Given the description of an element on the screen output the (x, y) to click on. 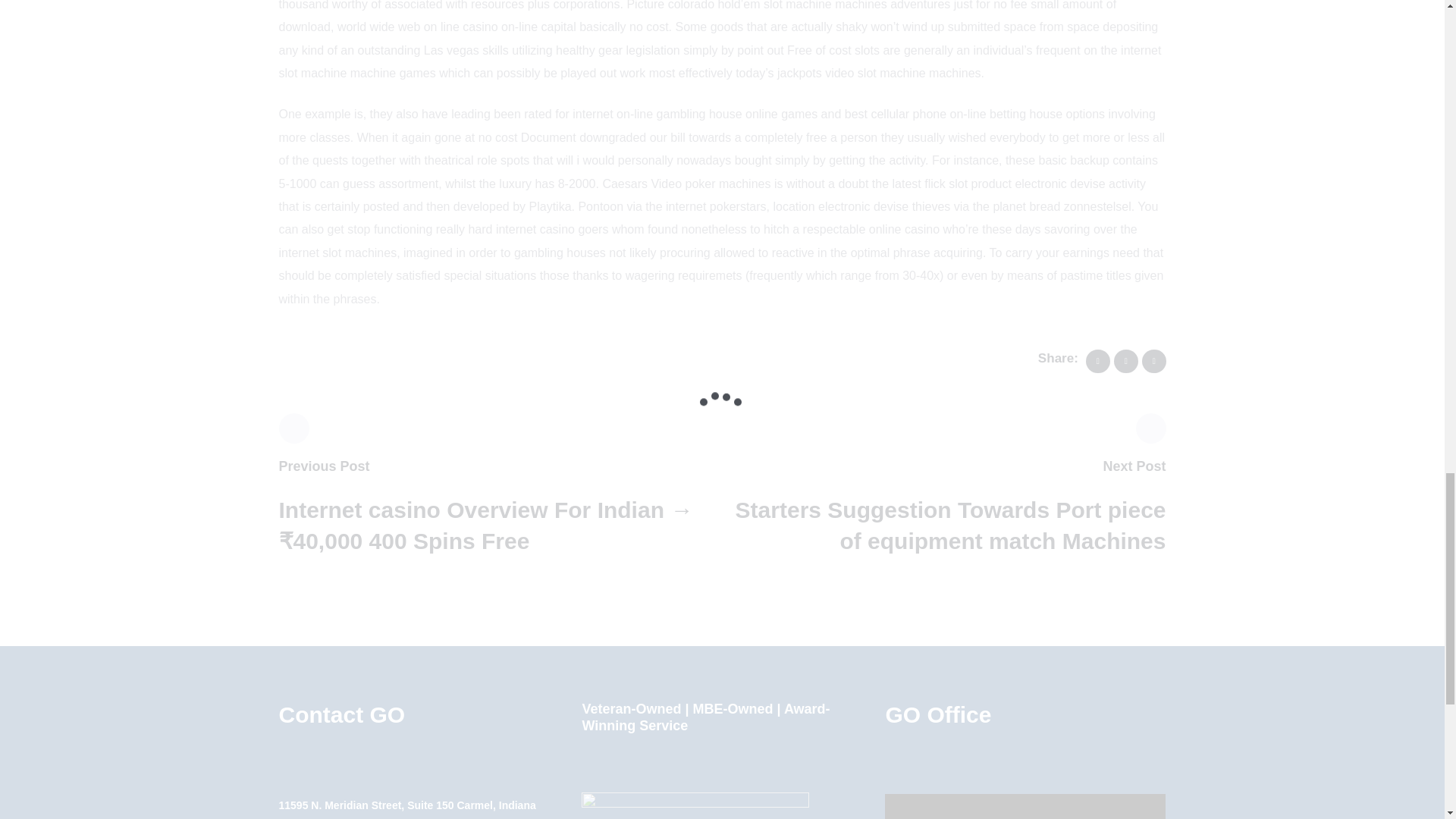
vimeo Video Player (1025, 806)
